Given the description of an element on the screen output the (x, y) to click on. 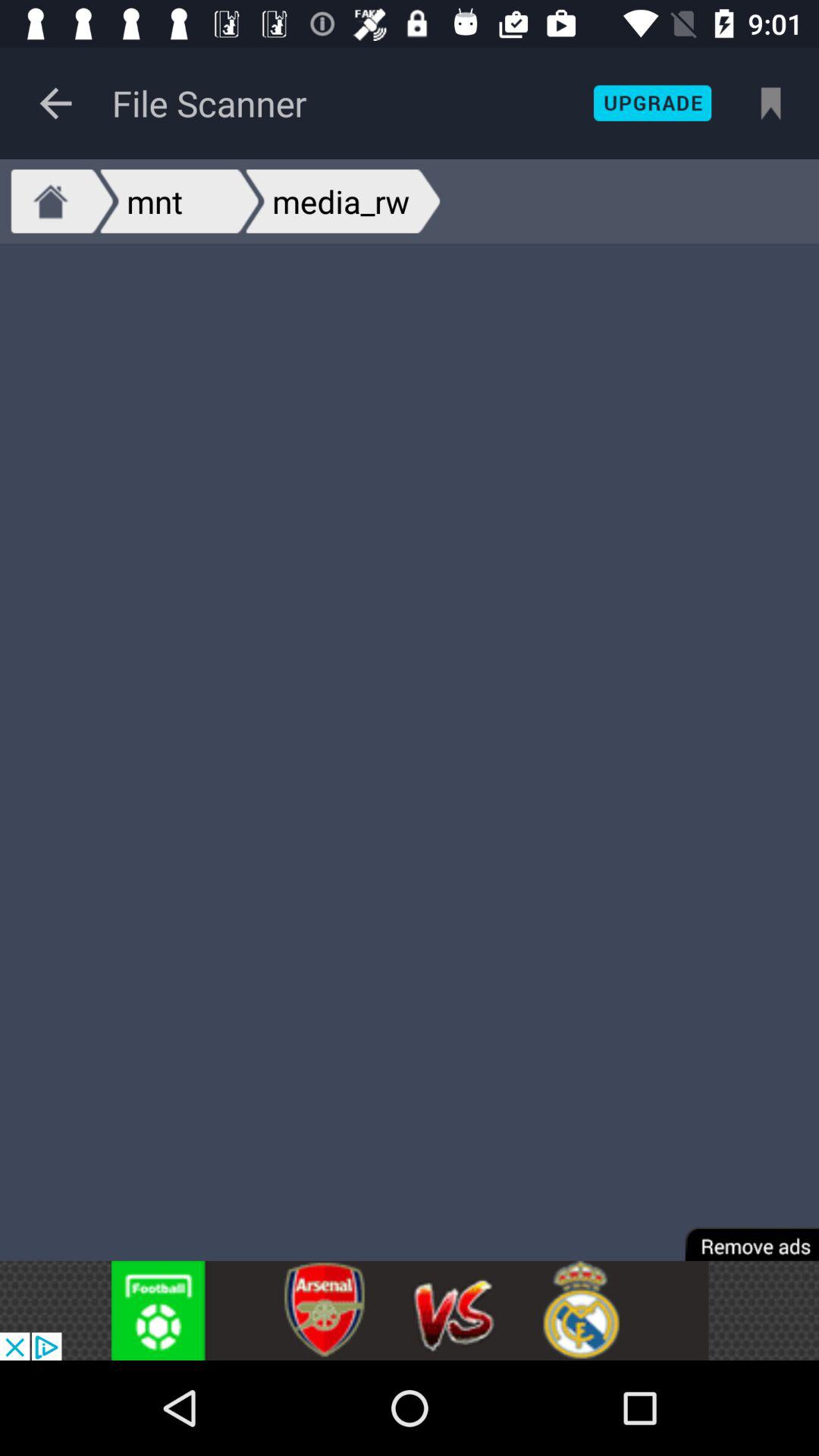
close advertisement (742, 1233)
